Given the description of an element on the screen output the (x, y) to click on. 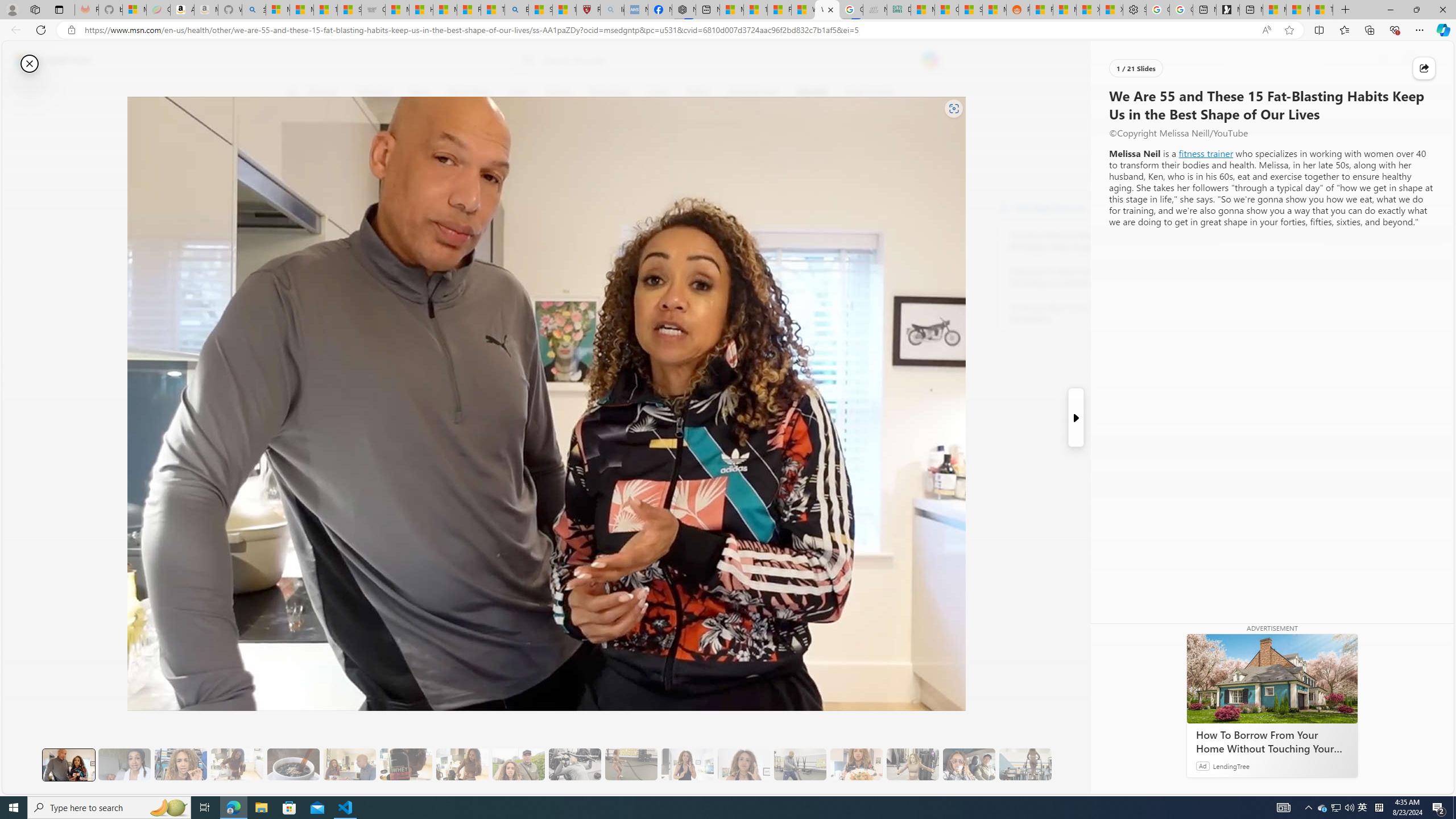
3 They Drink Lemon Tea (237, 764)
Skip to footer (46, 59)
These 3 Stocks Pay You More Than 5% to Own Them (1321, 9)
12 Proven Ways To Increase Your Metabolism (1071, 313)
Combat Siege (373, 9)
Go to publisher's site (830, 146)
14 They Have Salmon and Veggies for Dinner (855, 764)
Class: button-glyph (292, 92)
